Given the description of an element on the screen output the (x, y) to click on. 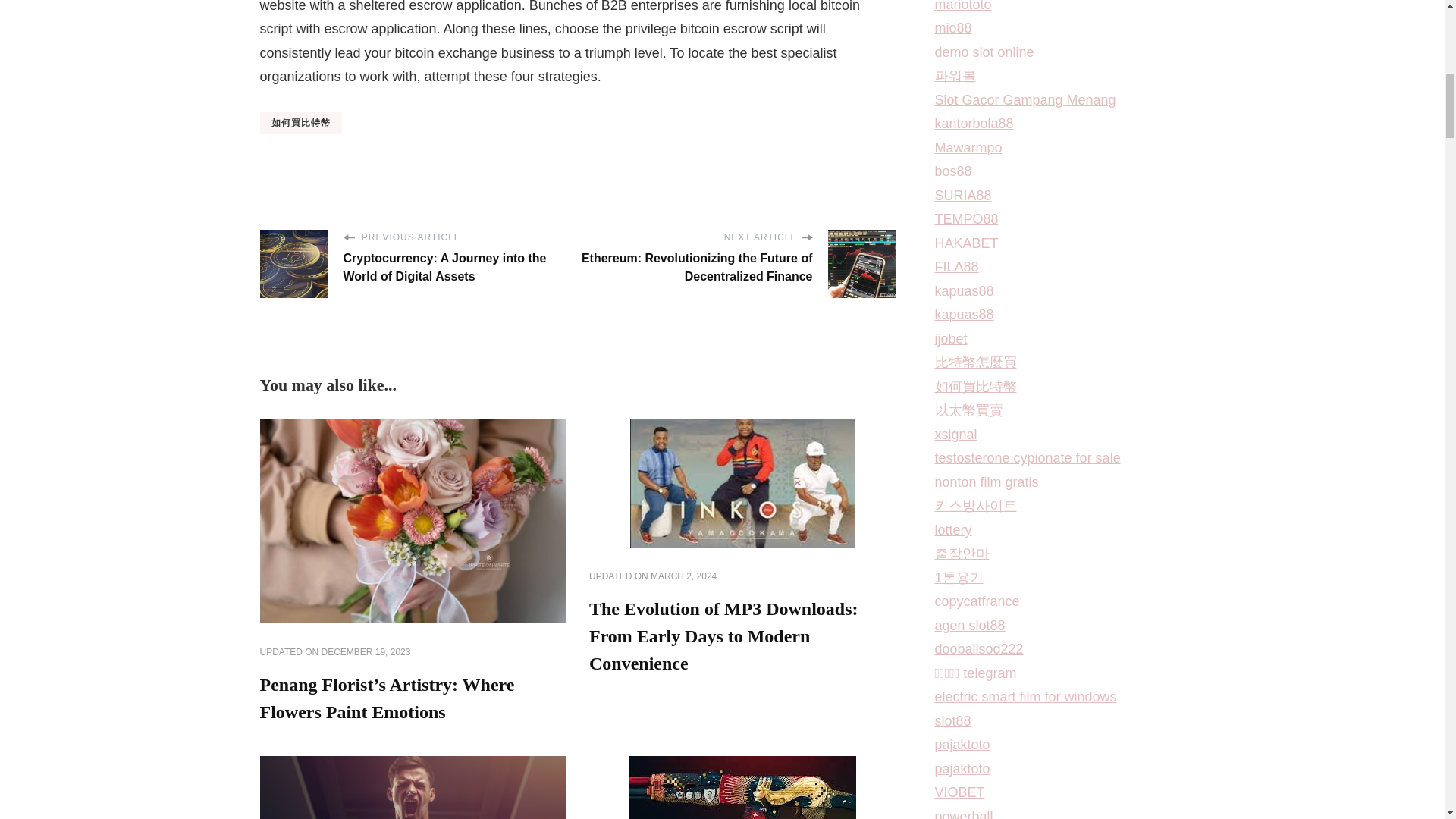
MARCH 2, 2024 (683, 576)
DECEMBER 19, 2023 (365, 653)
